Given the description of an element on the screen output the (x, y) to click on. 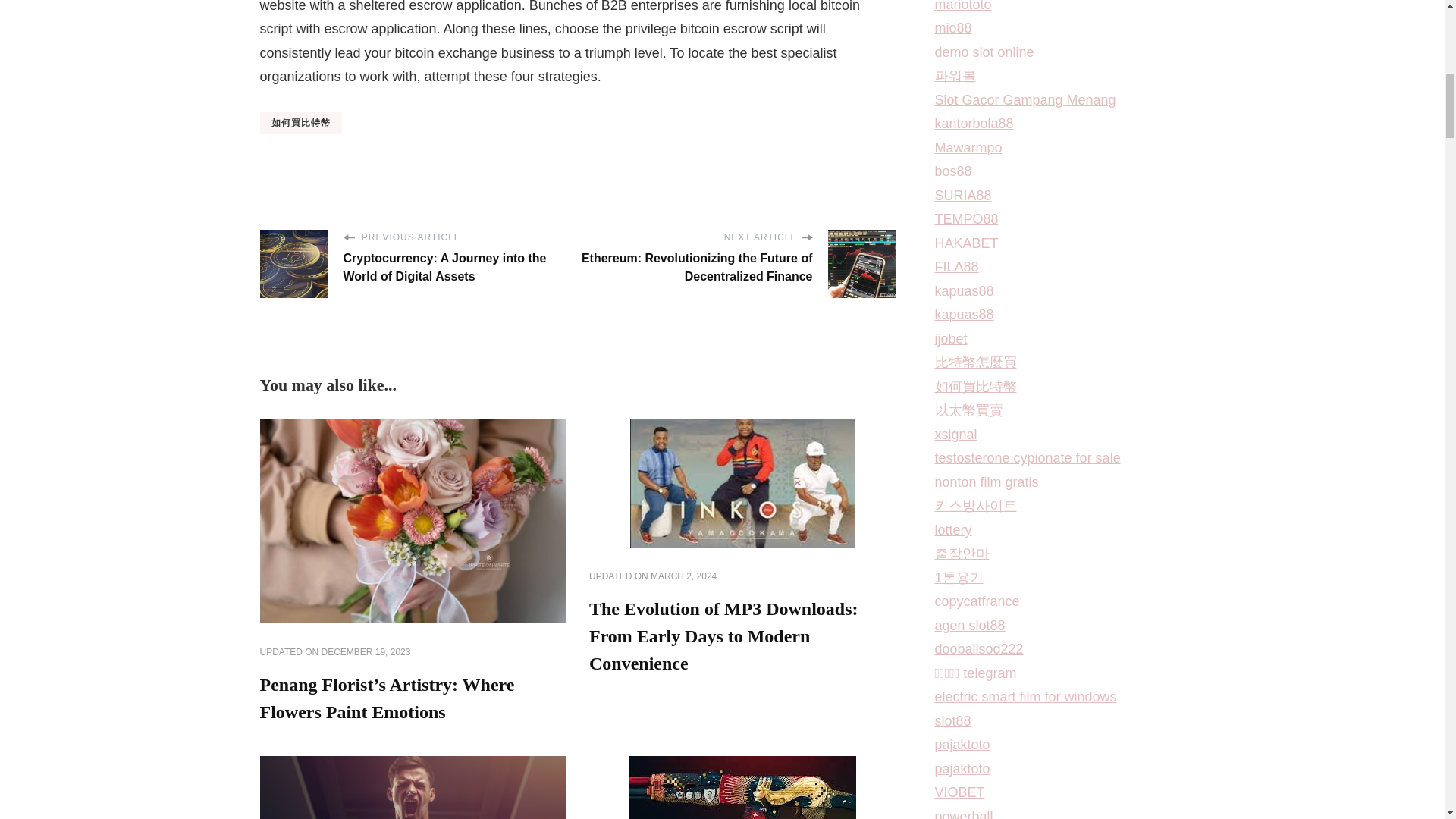
MARCH 2, 2024 (683, 576)
DECEMBER 19, 2023 (365, 653)
